Given the description of an element on the screen output the (x, y) to click on. 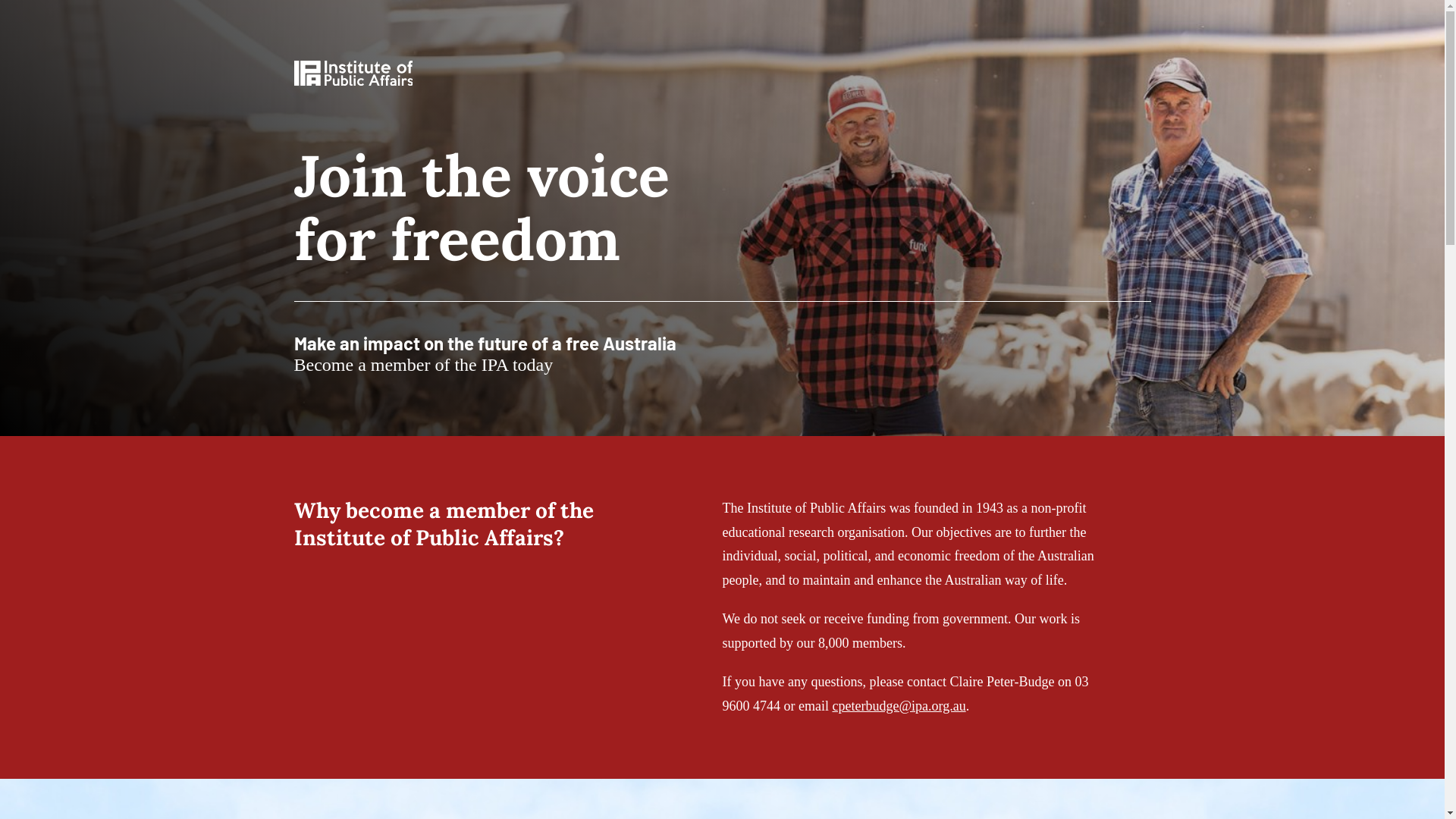
cpeterbudge@ipa.org.au Element type: text (898, 705)
Join Element type: text (76, 12)
